Given the description of an element on the screen output the (x, y) to click on. 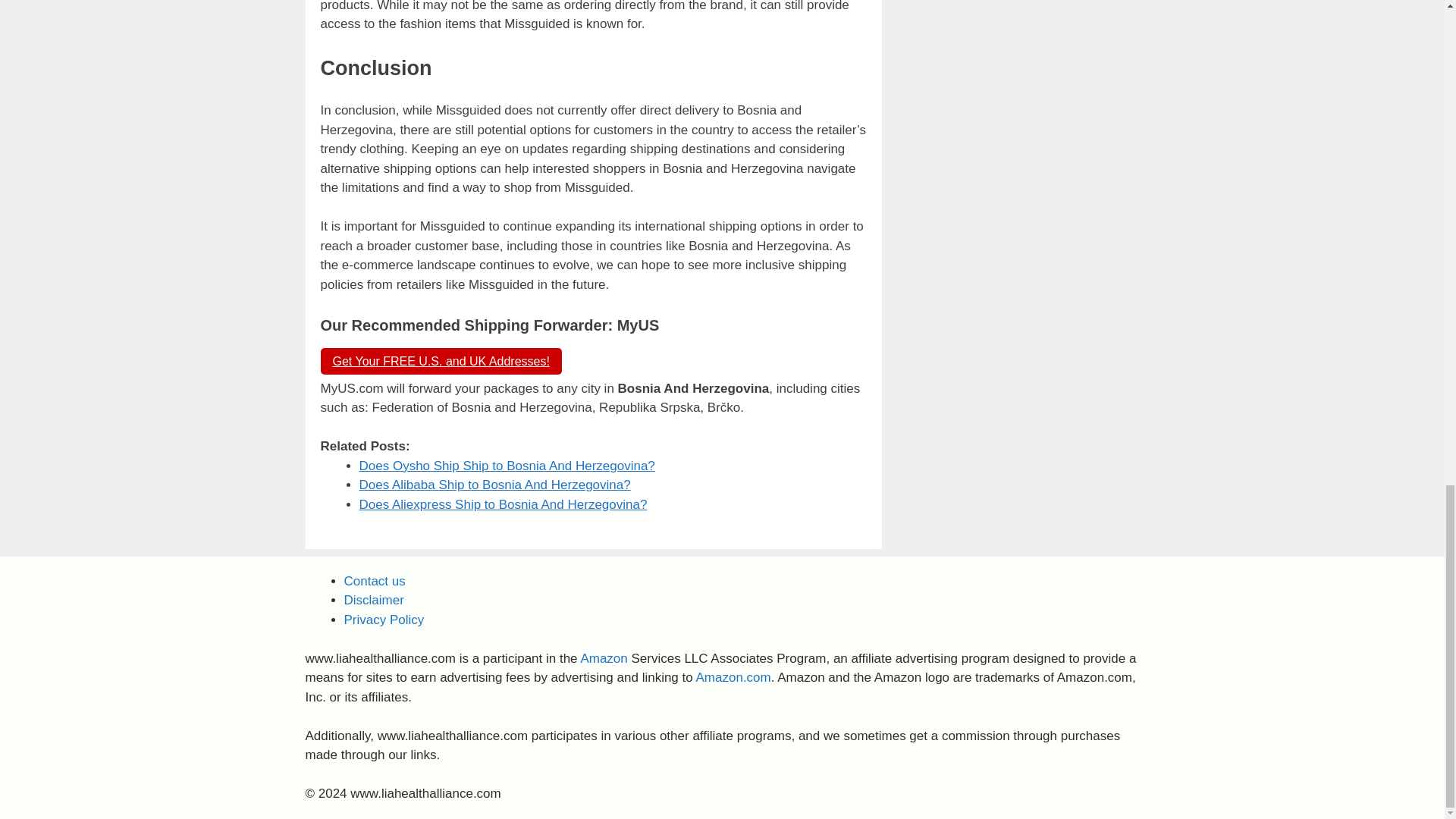
Contact us (374, 581)
Get Your FREE U.S. and UK Addresses! (440, 361)
Amazon.com (733, 677)
Disclaimer (373, 599)
Does Oysho Ship Ship to Bosnia And Herzegovina? (507, 465)
Privacy Policy (384, 619)
Amazon (603, 658)
Does Alibaba Ship to Bosnia And Herzegovina? (494, 484)
Does Aliexpress Ship to Bosnia And Herzegovina? (503, 504)
